Given the description of an element on the screen output the (x, y) to click on. 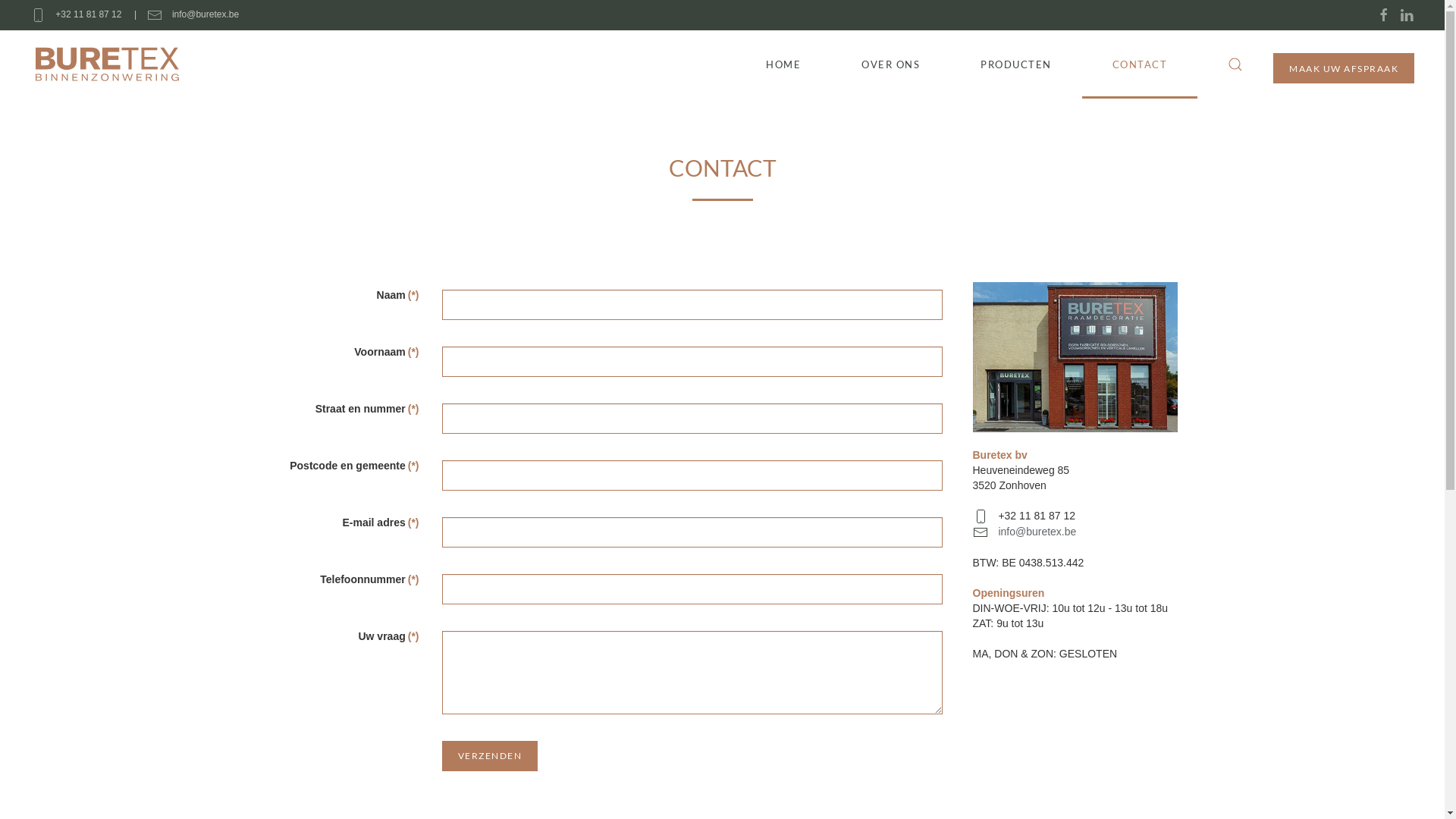
VERZENDEN Element type: text (489, 755)
info@buretex.be Element type: text (1036, 531)
PRODUCTEN Element type: text (1016, 64)
OVER ONS Element type: text (890, 64)
MAAK UW AFSPRAAK Element type: text (1343, 68)
HOME Element type: text (783, 64)
CONTACT Element type: text (1139, 64)
